Given the description of an element on the screen output the (x, y) to click on. 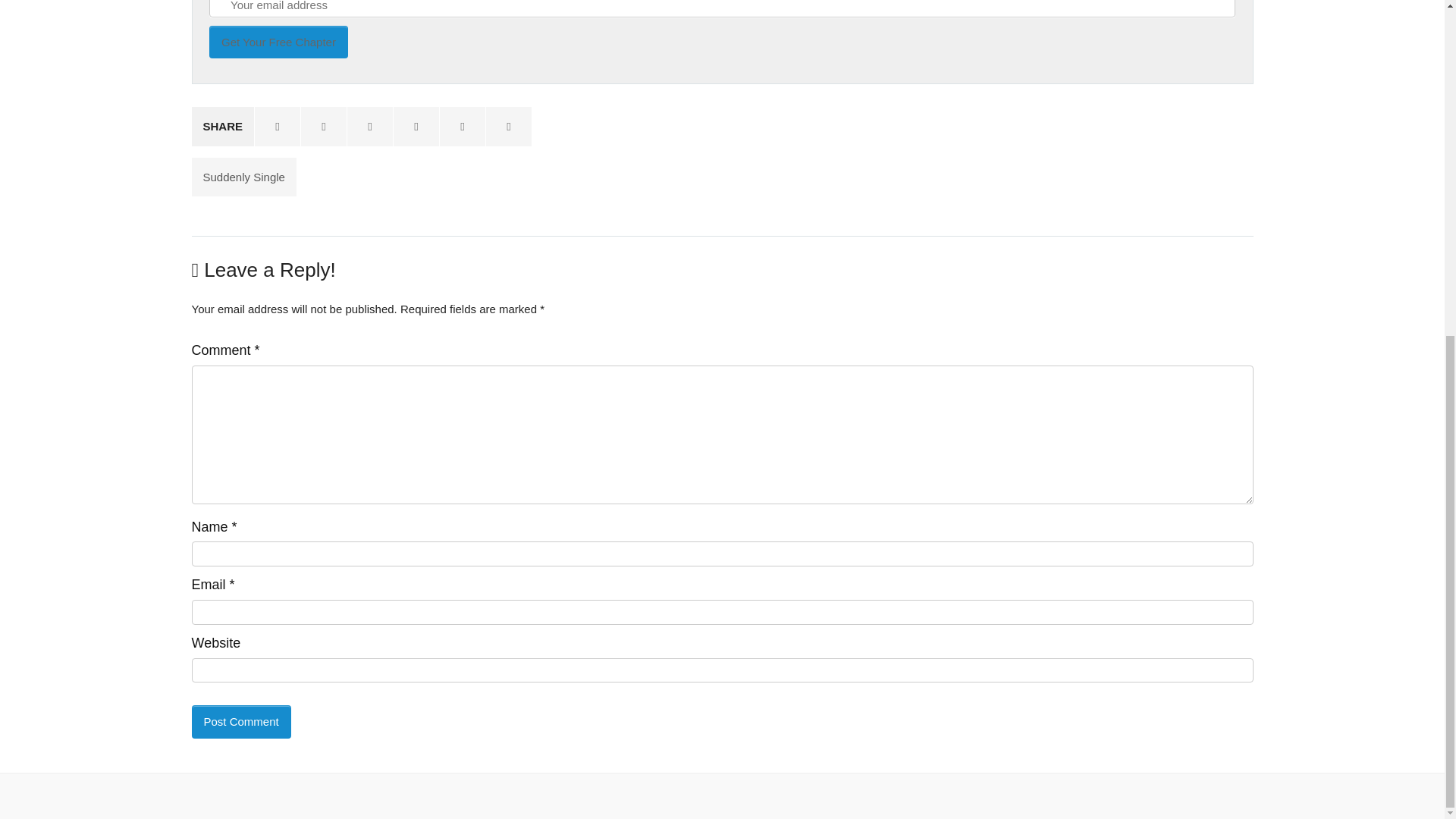
Post Comment (239, 721)
Get Your Free Chapter (278, 41)
Get Your Free Chapter (278, 41)
Post Comment (239, 721)
Suddenly Single (242, 177)
